Given the description of an element on the screen output the (x, y) to click on. 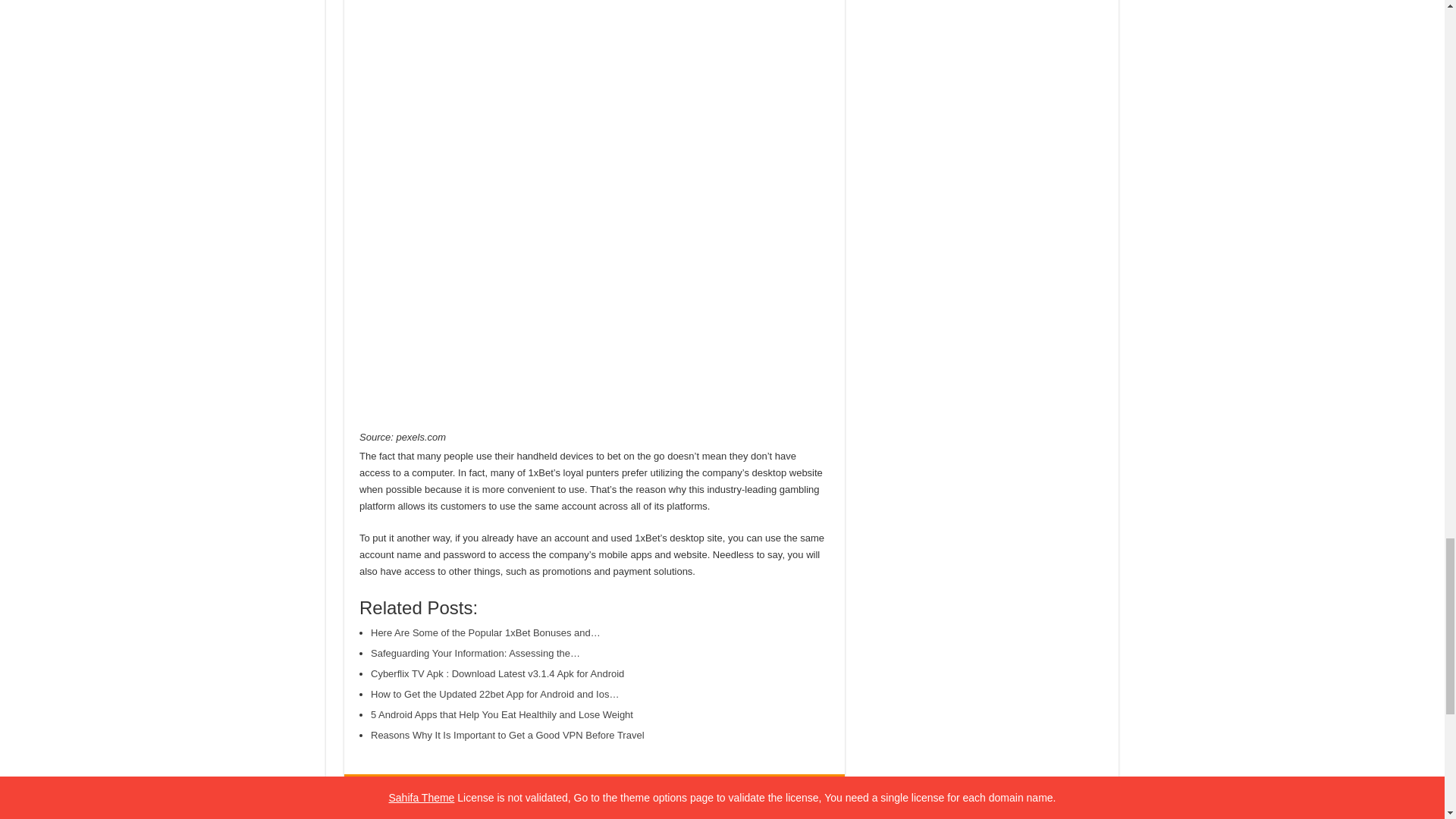
CASINO (540, 792)
1XBET (393, 792)
ANDROID (447, 792)
ONLINE (628, 792)
5 Android Apps that Help You Eat Healthily and Lose Weight (502, 714)
Cyberflix TV Apk : Download Latest v3.1.4 Apk for Android (497, 673)
Reasons Why It Is Important to Get a Good VPN Before Travel (508, 735)
IOS (584, 792)
APP (495, 792)
